Given the description of an element on the screen output the (x, y) to click on. 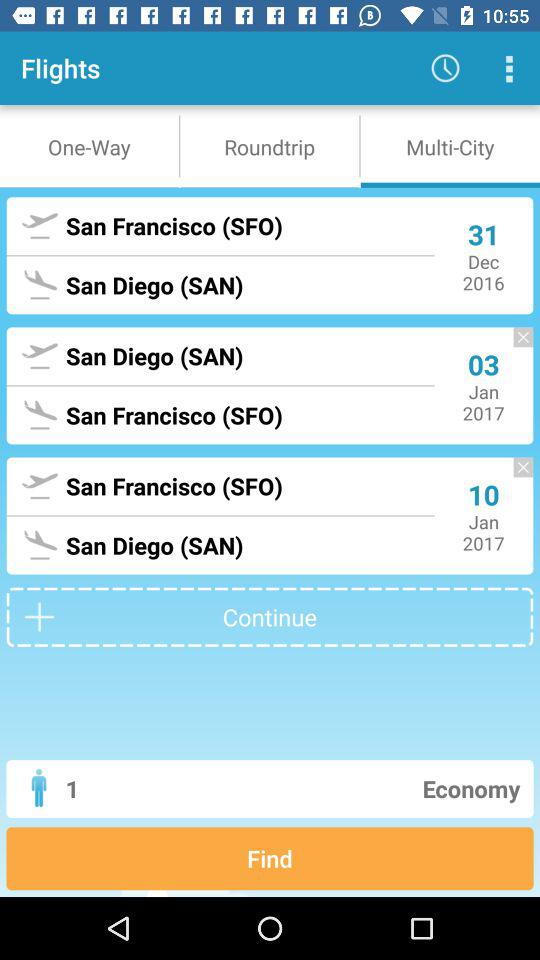
swipe to the economy icon (346, 788)
